Given the description of an element on the screen output the (x, y) to click on. 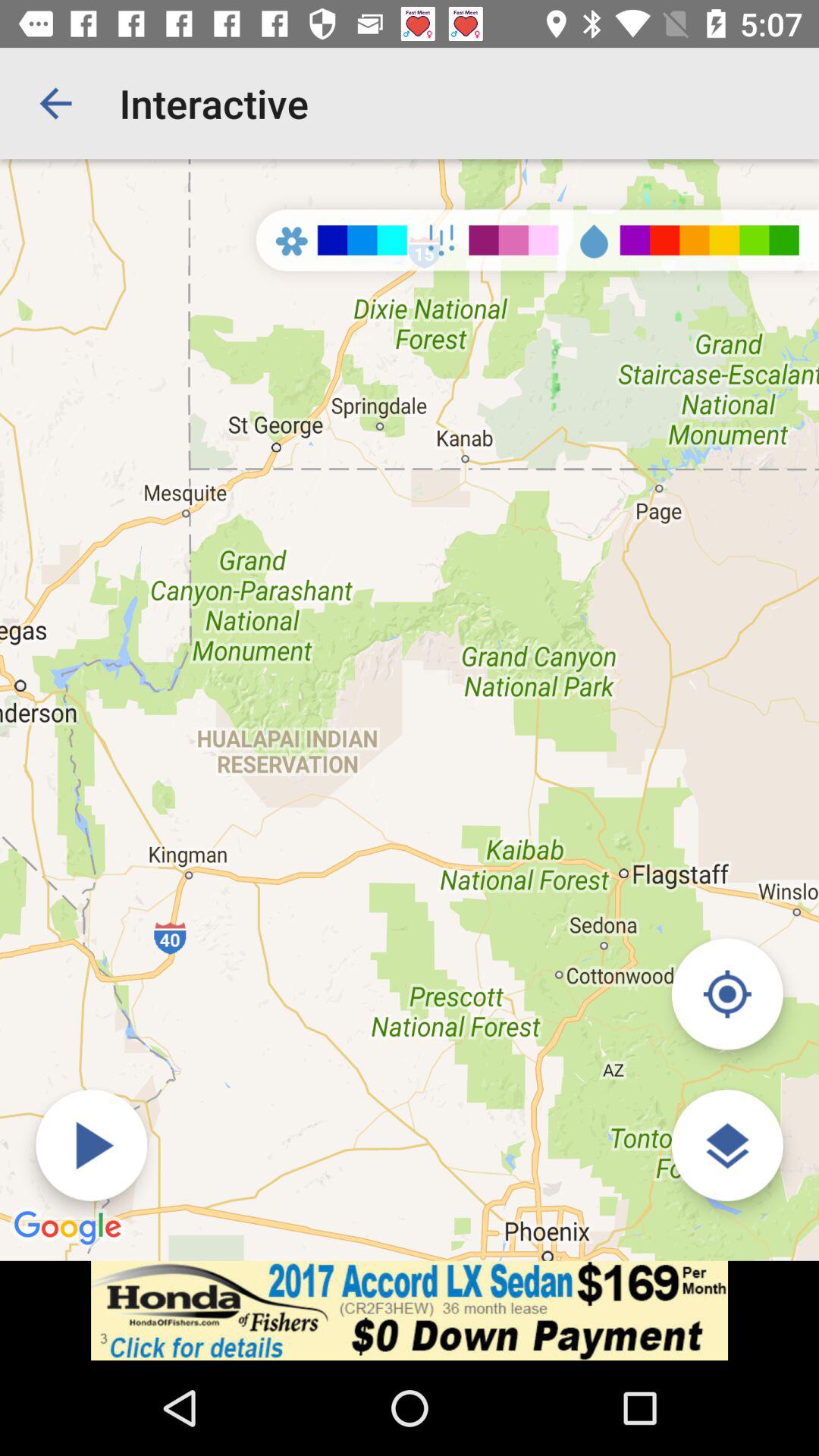
play weather radar (91, 1145)
